Given the description of an element on the screen output the (x, y) to click on. 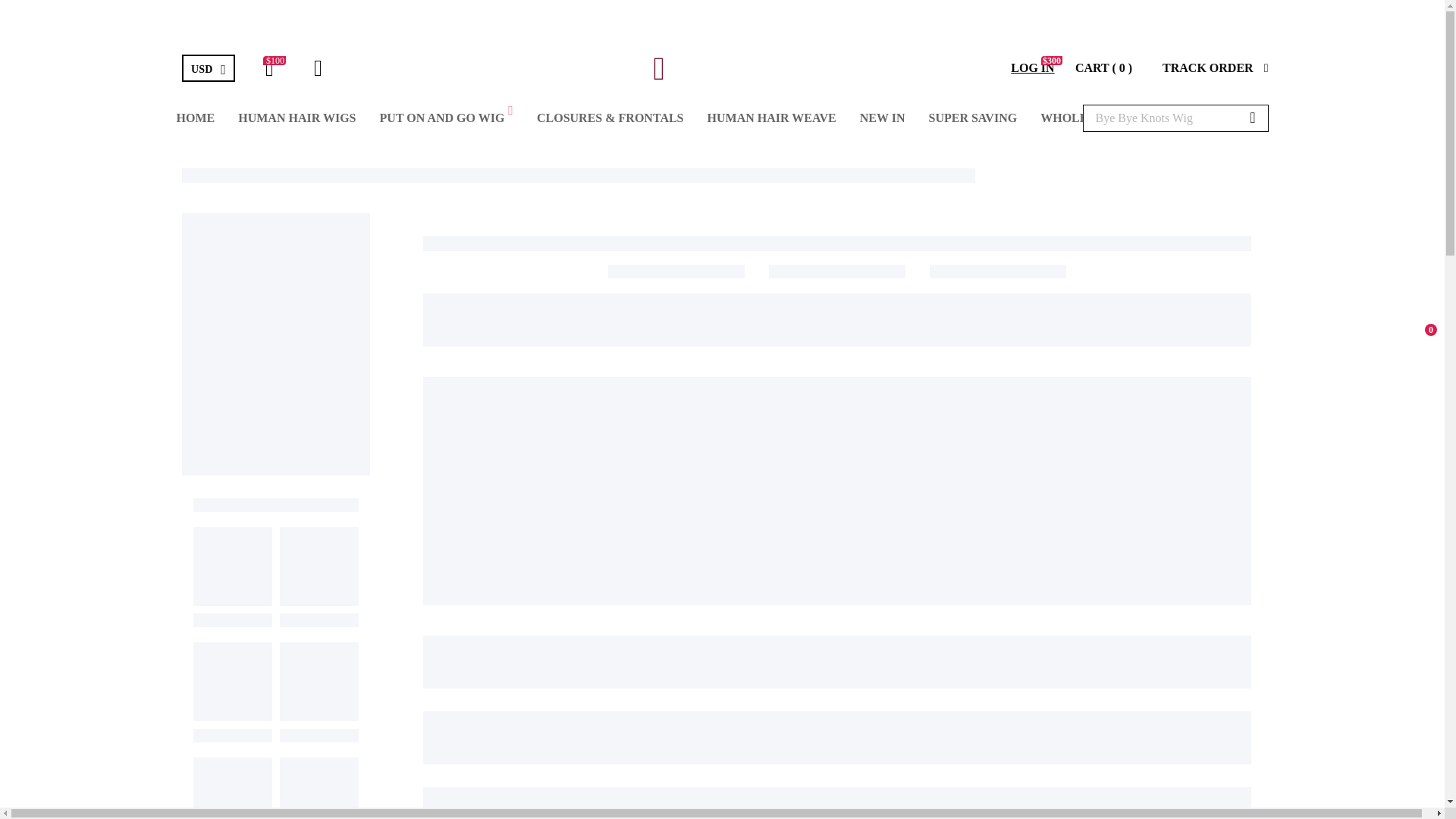
TRACK ORDER (1214, 68)
How Many Bundles Do You Need With A Closure Or Frontal (266, 724)
